Given the description of an element on the screen output the (x, y) to click on. 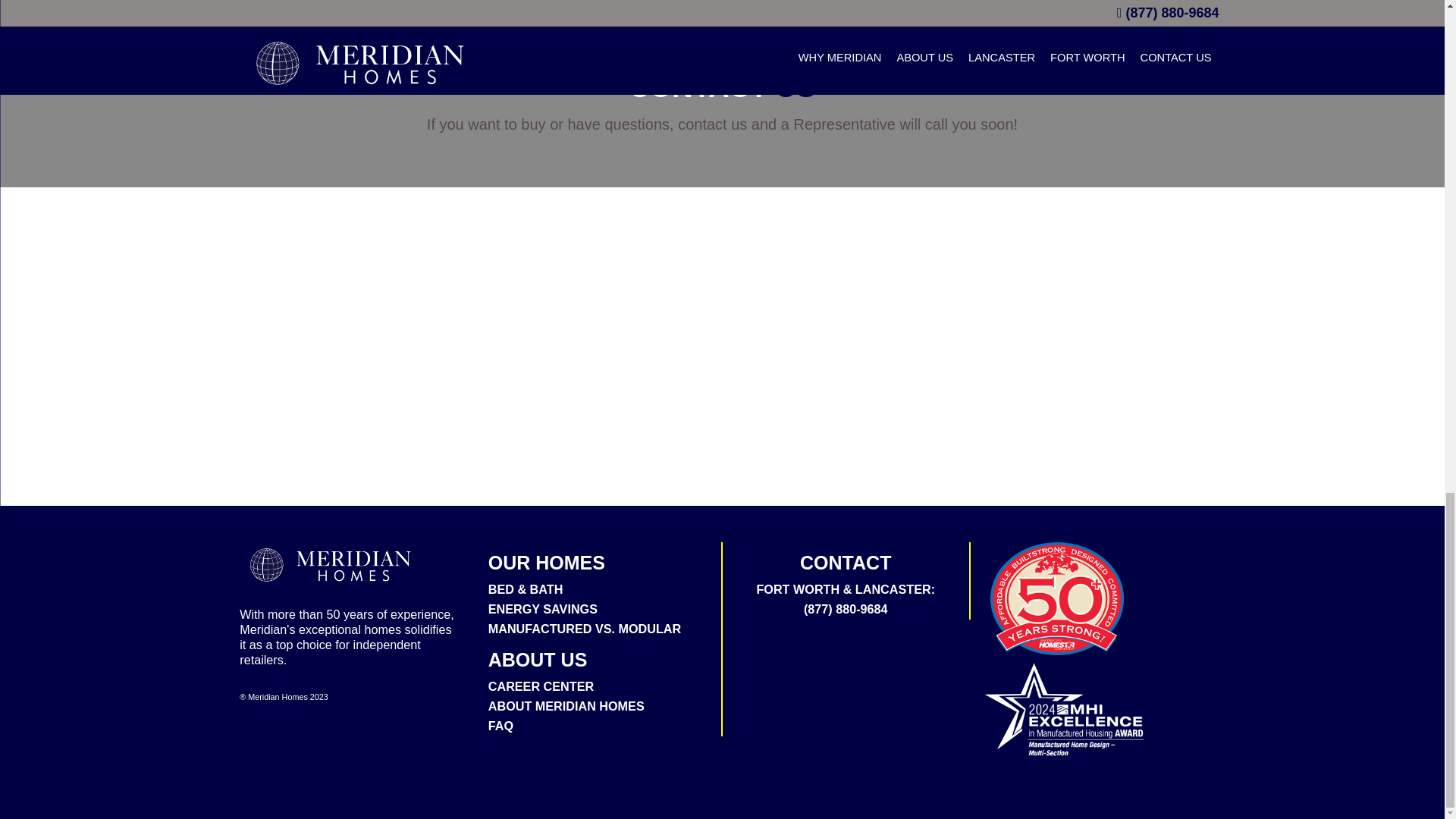
MANUFACTURED VS. MODULAR (584, 628)
ENERGY SAVINGS (541, 608)
ABOUT MERIDIAN HOMES (566, 705)
CAREER CENTER (540, 685)
FAQ (500, 725)
